Given the description of an element on the screen output the (x, y) to click on. 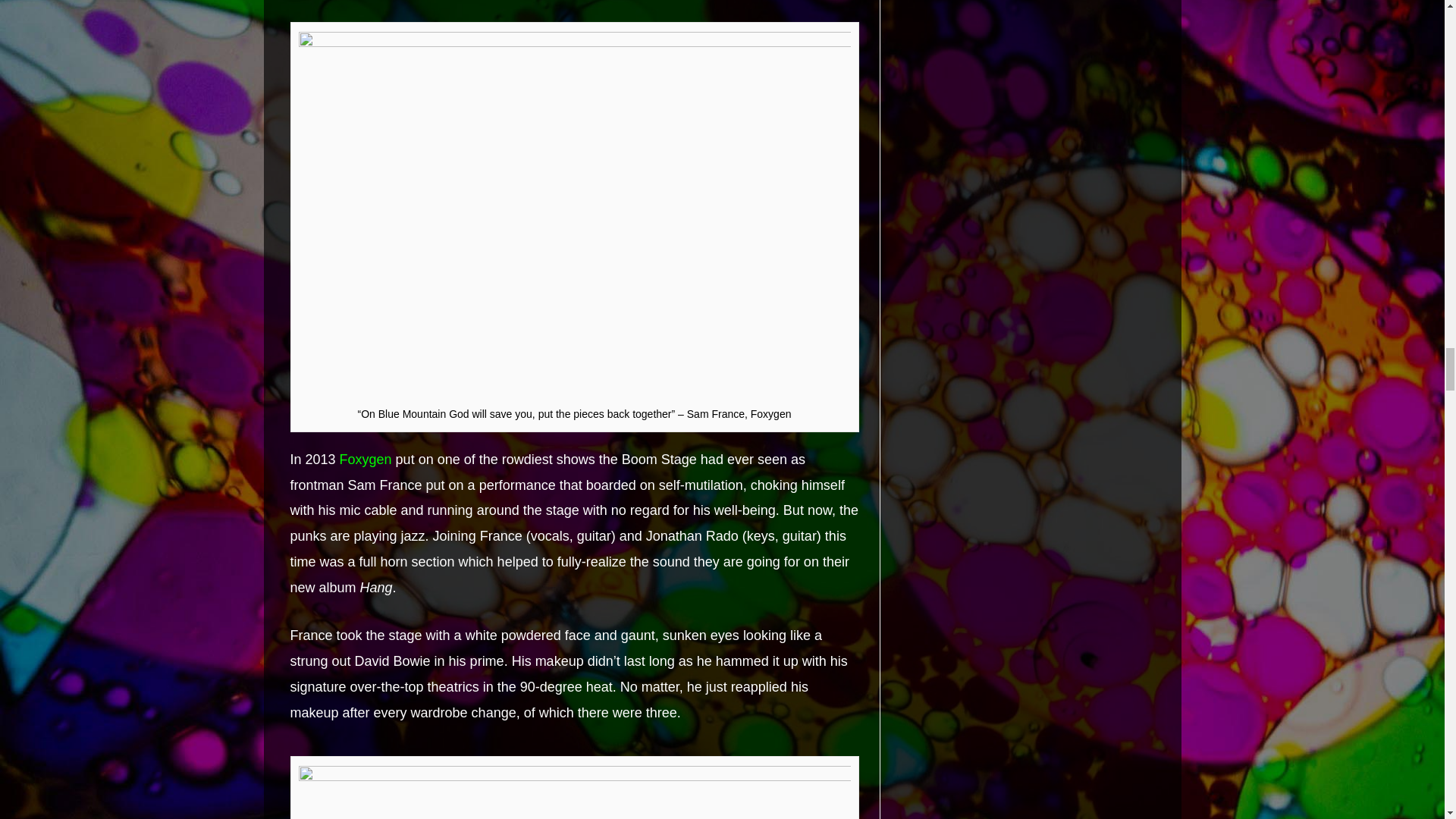
Foxygen (365, 459)
